Given the description of an element on the screen output the (x, y) to click on. 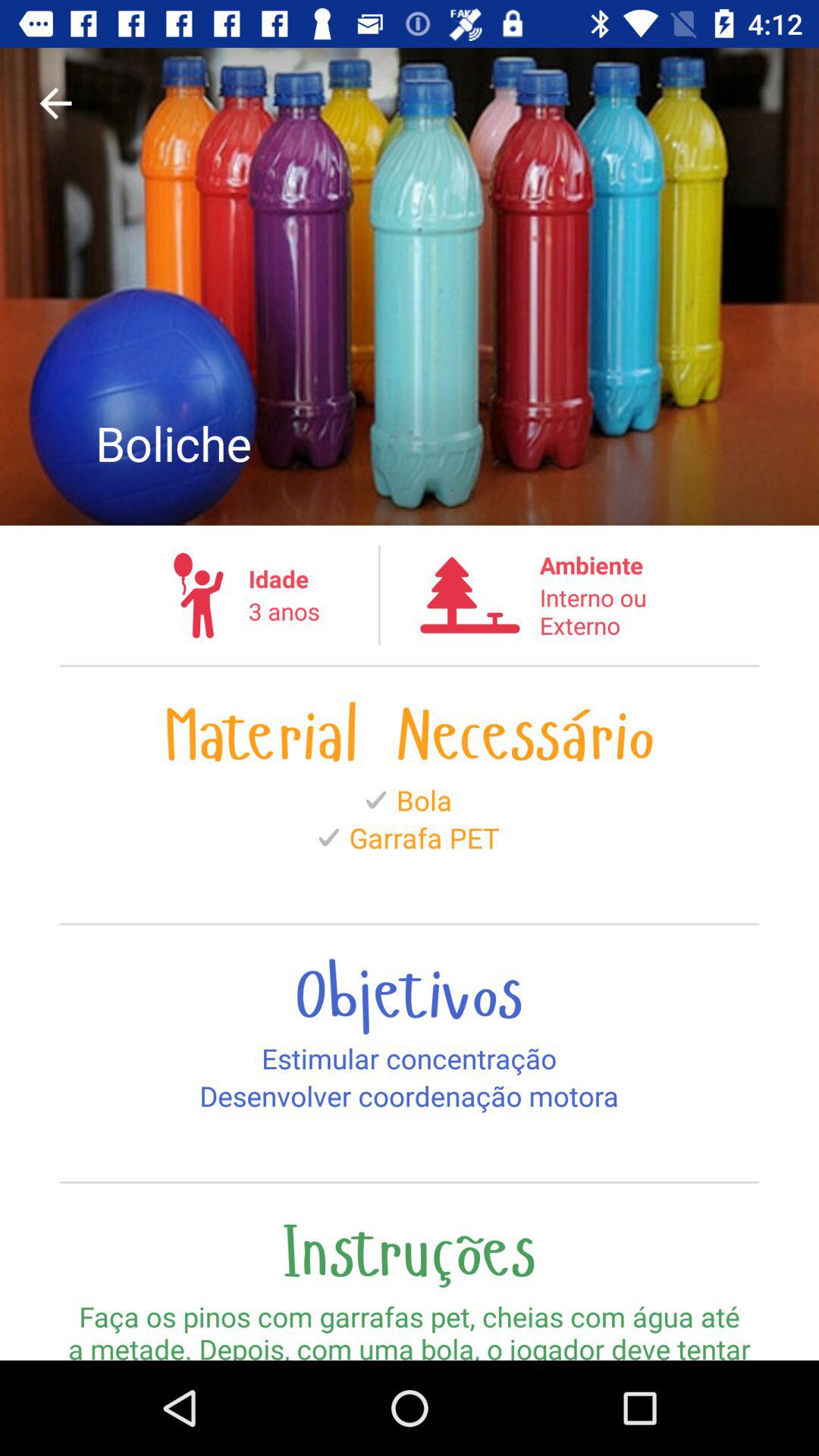
select the icon on left to the text idade on the web page (198, 594)
click on the icon before bola (375, 799)
